Given the description of an element on the screen output the (x, y) to click on. 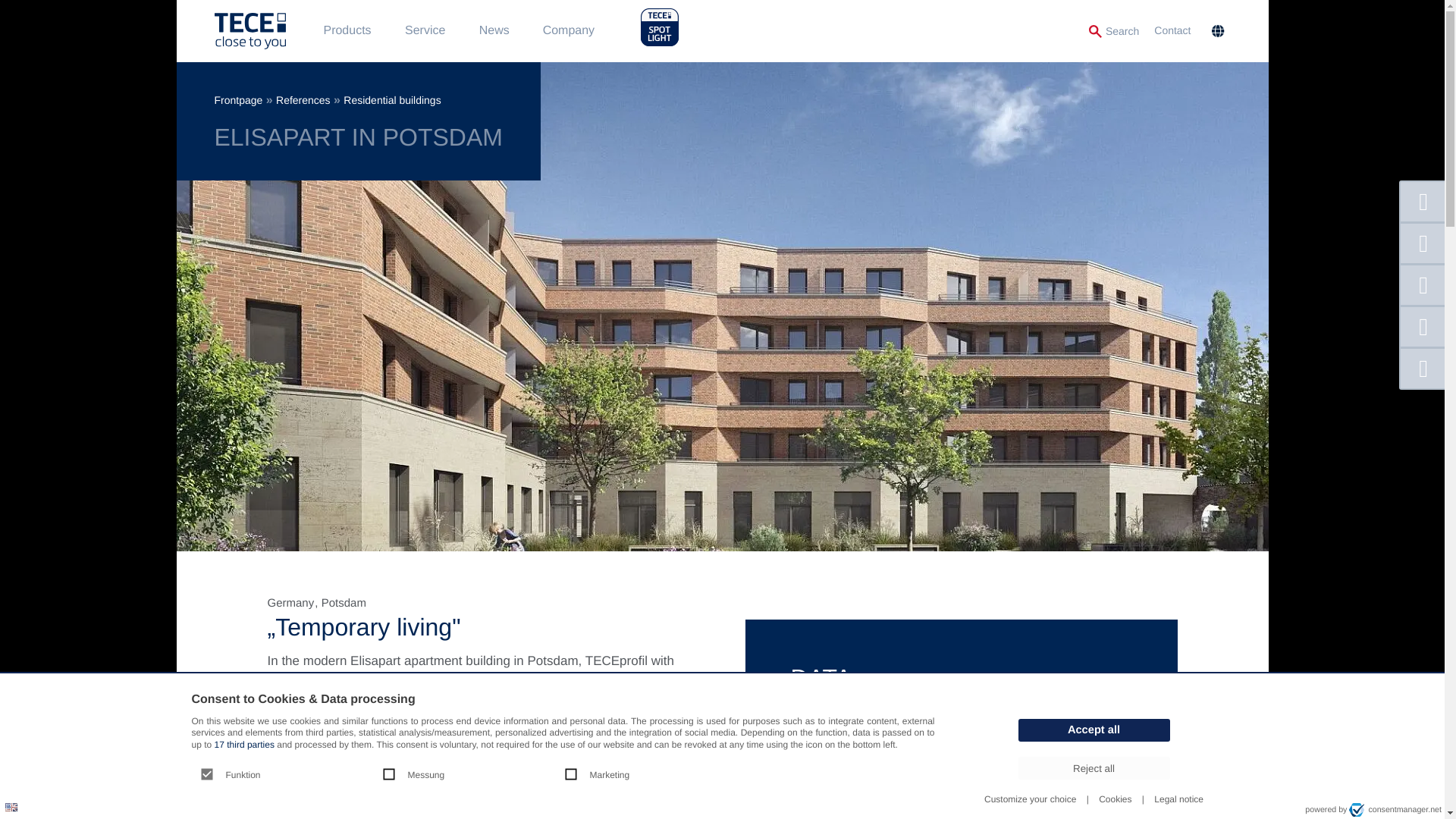
Language: en (11, 807)
Purpose (562, 775)
Language: en (11, 806)
News (494, 30)
17 third parties (244, 744)
Service (425, 30)
Customize your choice (1029, 799)
Company (568, 30)
Products (346, 30)
Privacy settings (17, 801)
